Given the description of an element on the screen output the (x, y) to click on. 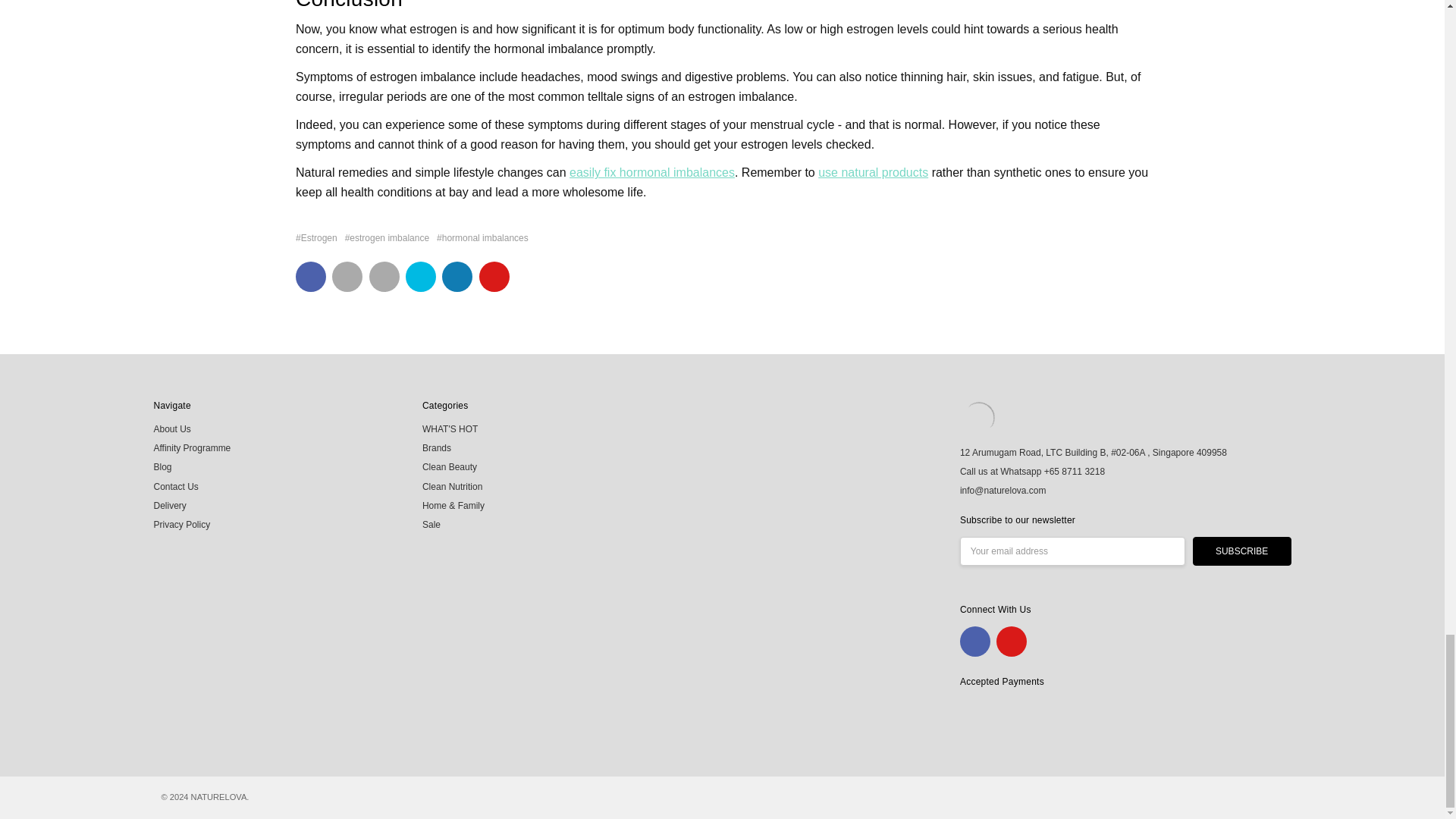
Facebook (310, 276)
natureLOVA (978, 417)
Twitter (420, 276)
Pinterest (494, 276)
Linkedin (456, 276)
Email (346, 276)
Subscribe (1241, 551)
Print (383, 276)
